Given the description of an element on the screen output the (x, y) to click on. 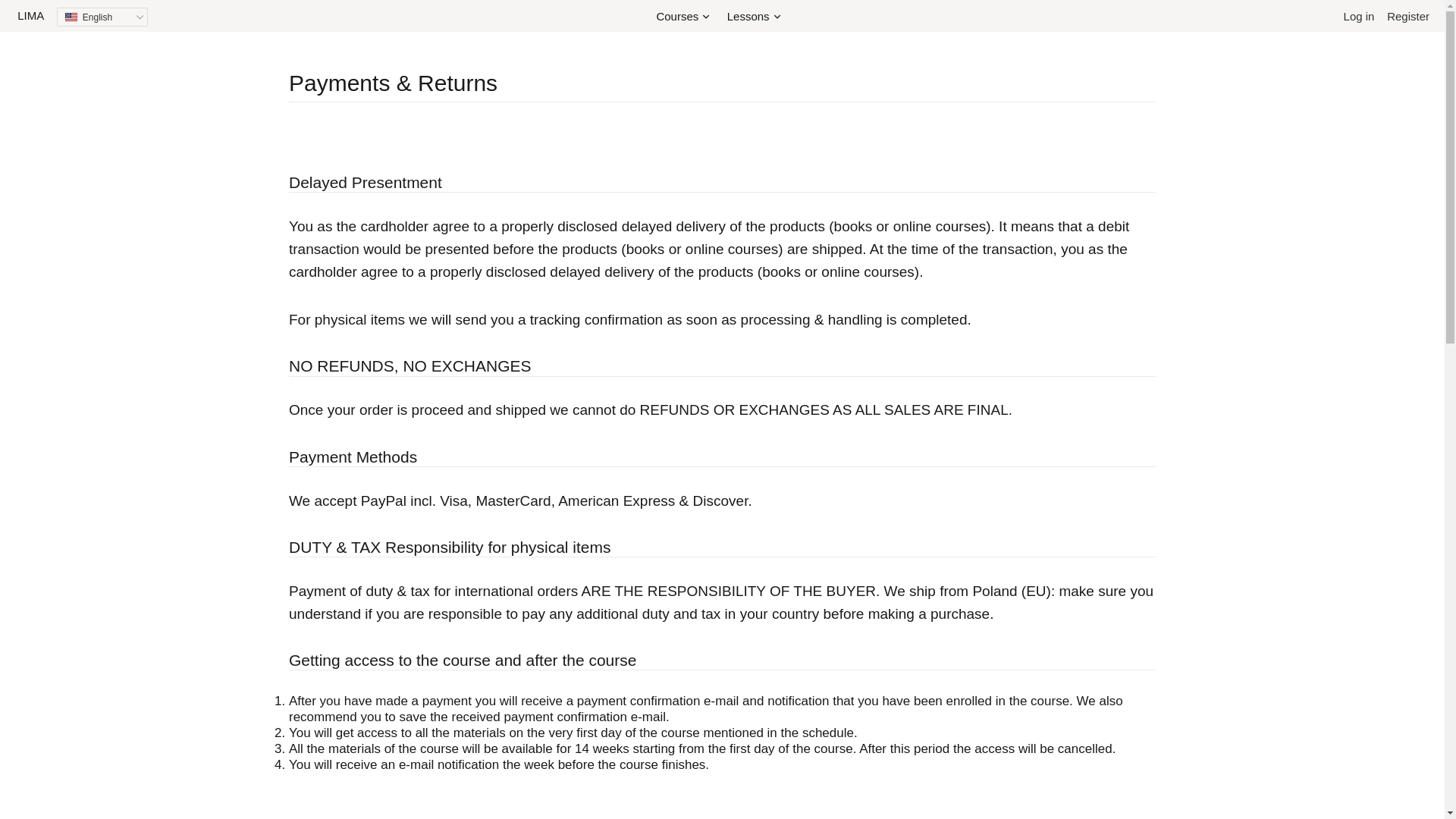
Lessons (753, 16)
LIMA (30, 15)
Courses (682, 16)
Register (1408, 15)
Log in (1358, 15)
English (102, 16)
